Given the description of an element on the screen output the (x, y) to click on. 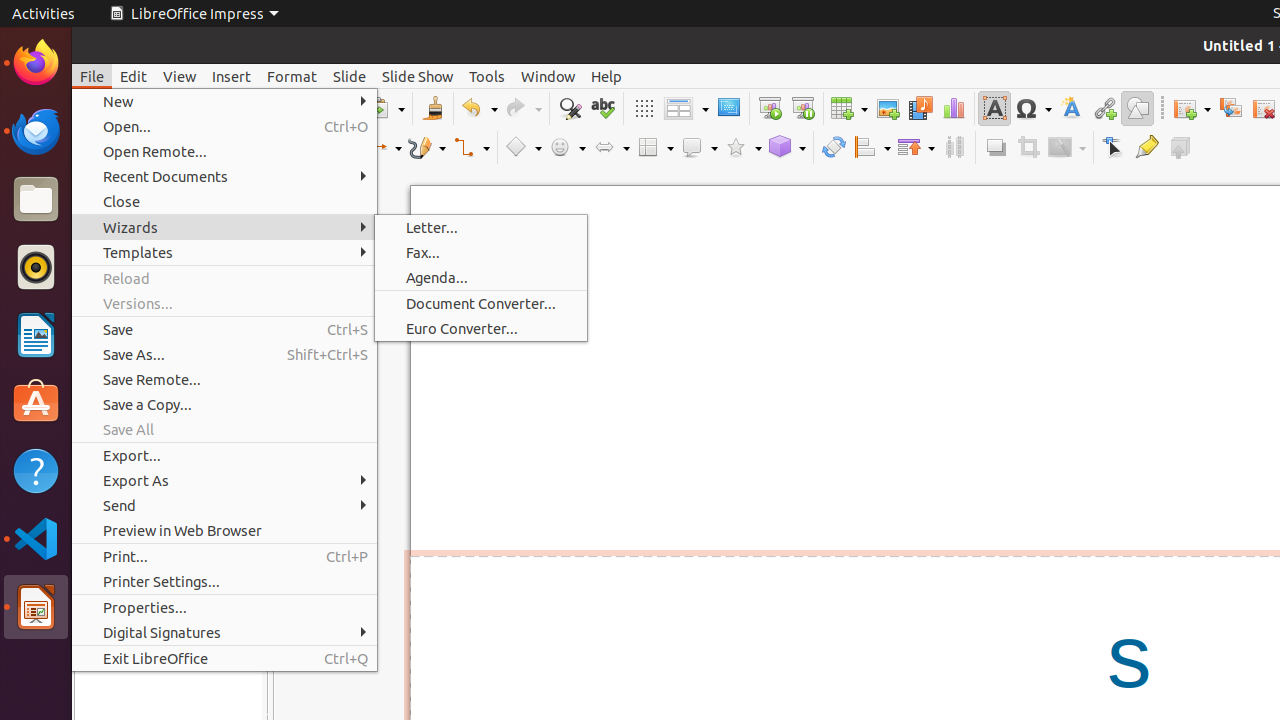
Send Element type: menu (224, 505)
Save a Copy... Element type: menu-item (224, 404)
Close Element type: menu-item (224, 201)
Fax... Element type: menu-item (481, 252)
Properties... Element type: menu-item (224, 607)
